Given the description of an element on the screen output the (x, y) to click on. 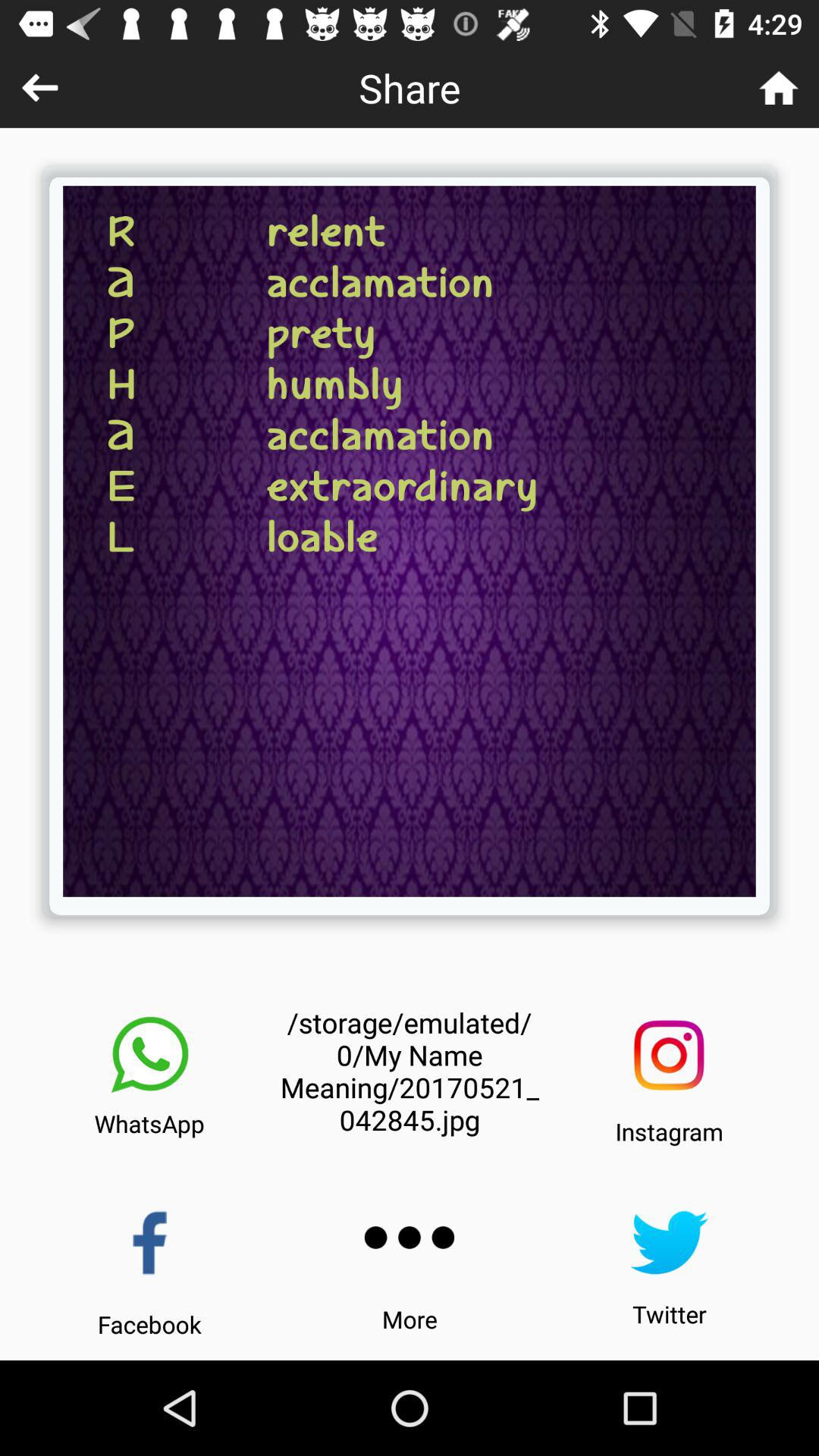
press icon at the top left corner (39, 87)
